Given the description of an element on the screen output the (x, y) to click on. 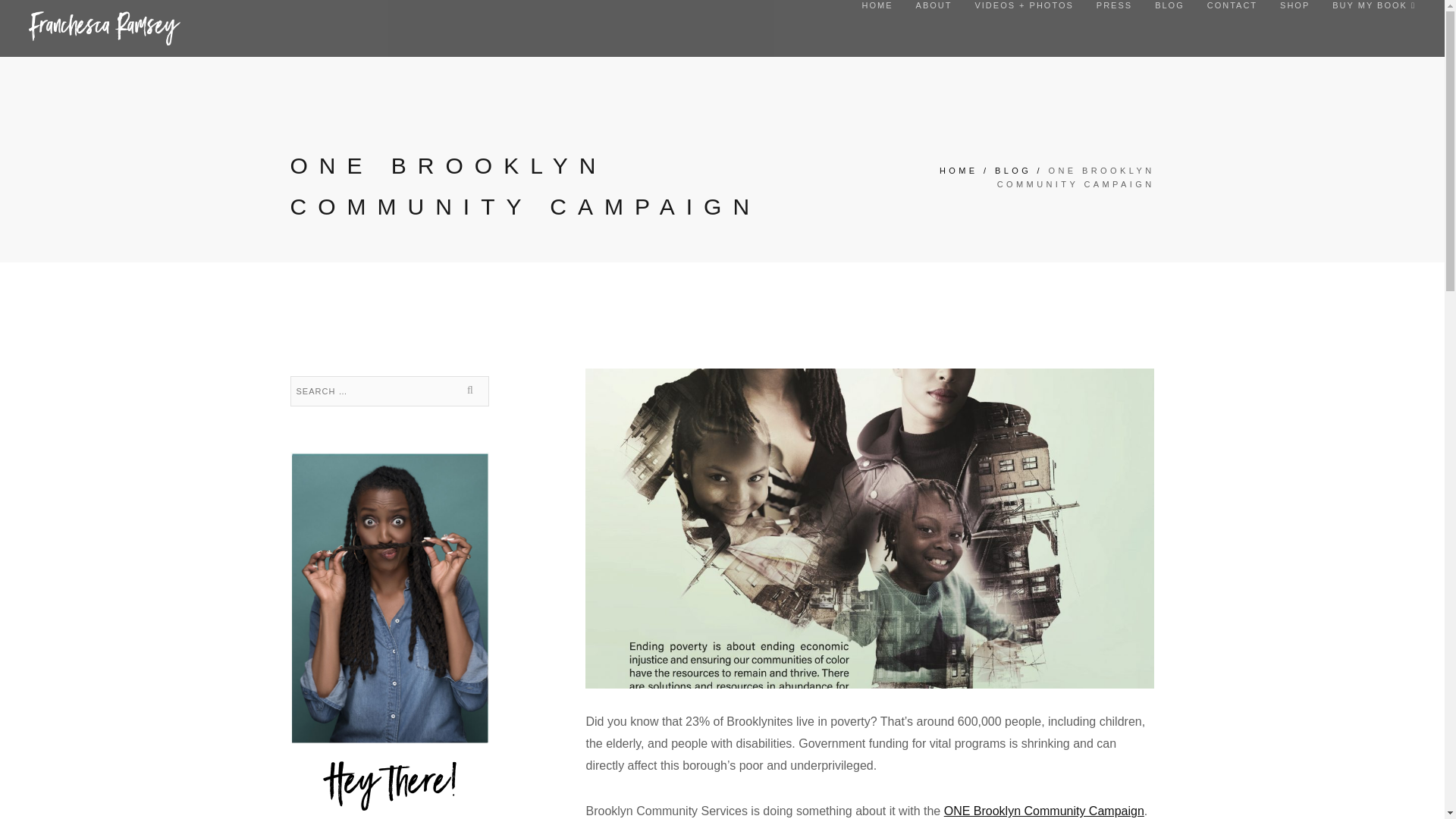
BLOG (1169, 5)
ABOUT (933, 5)
Search (472, 390)
PRESS (1114, 5)
BUY MY BOOK (1373, 5)
ONE Brooklyn Community Campaign (1043, 810)
HOME (958, 170)
BLOG (1012, 170)
CONTACT (1232, 5)
SHOP (1293, 5)
HOME (877, 5)
Search (472, 390)
franchesca.net (104, 28)
Search (472, 390)
